Given the description of an element on the screen output the (x, y) to click on. 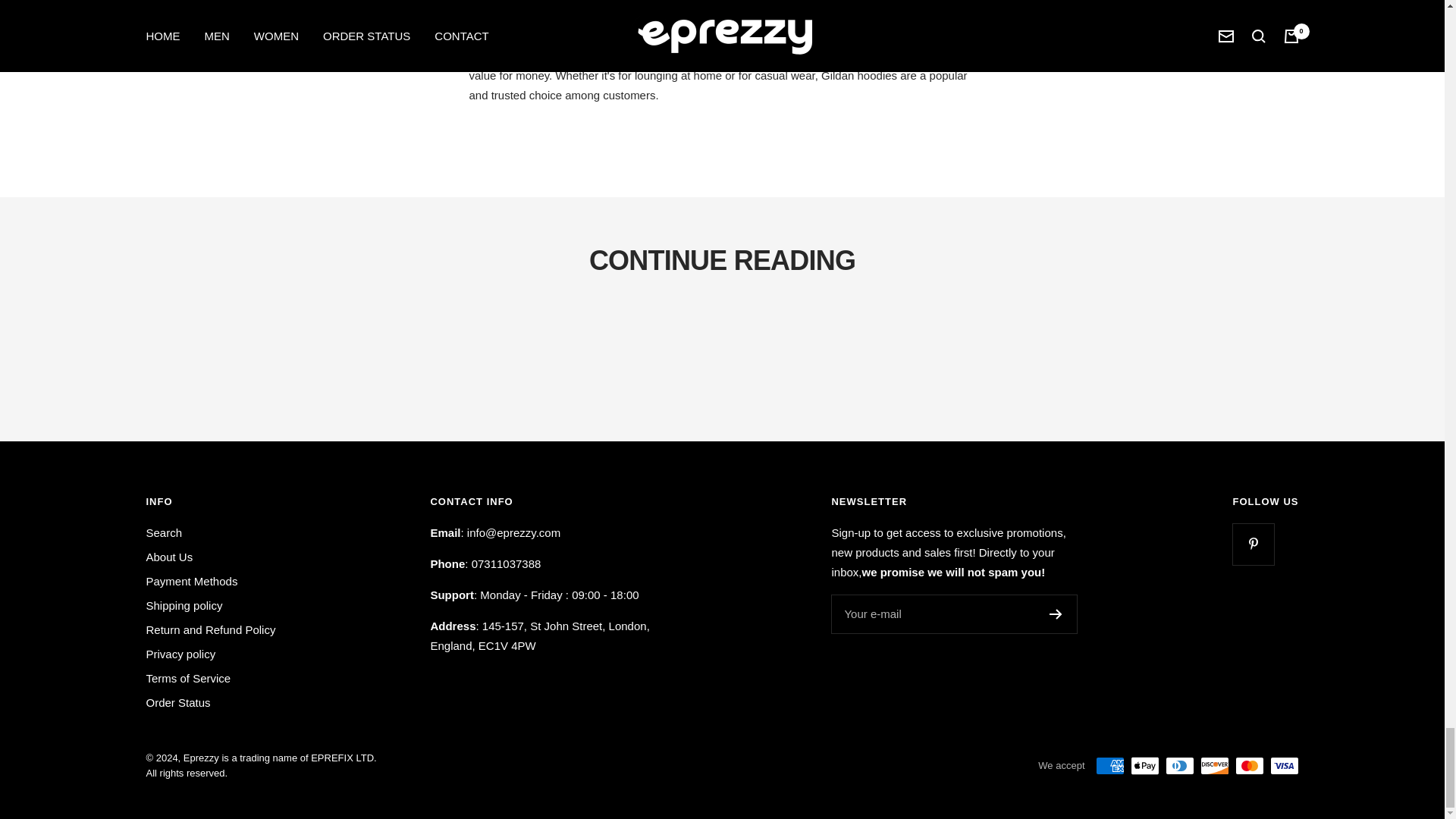
Search (163, 532)
Payment Methods (191, 581)
Return and Refund Policy (210, 629)
Shipping policy (183, 605)
Register (1055, 614)
About Us (168, 557)
